Given the description of an element on the screen output the (x, y) to click on. 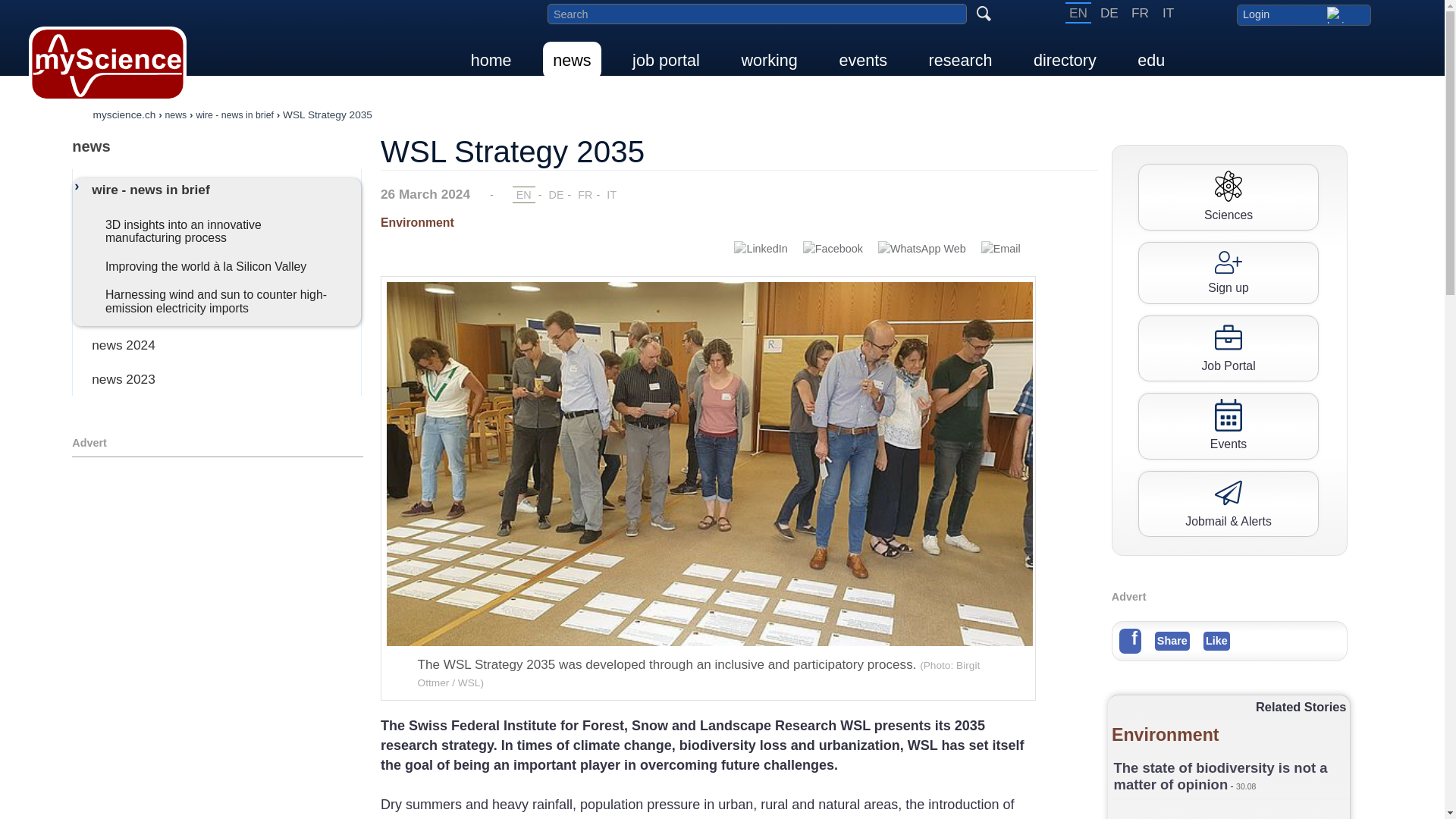
Deutsch (1109, 12)
myScience Home (107, 63)
research (960, 59)
FR (1139, 12)
Italiano (1167, 12)
 news  (216, 145)
home (491, 59)
working (768, 59)
English (1077, 12)
news (571, 59)
